Given the description of an element on the screen output the (x, y) to click on. 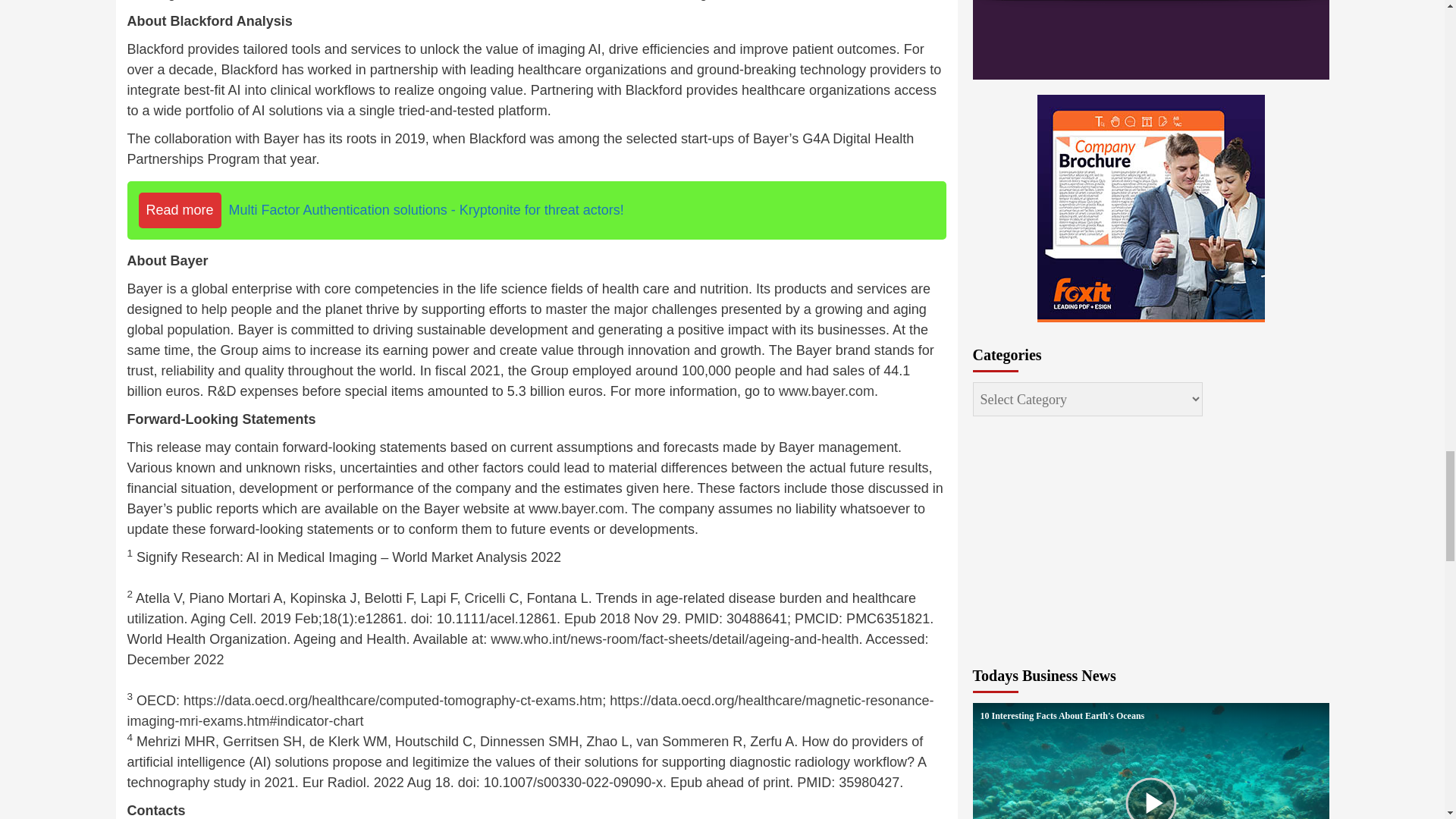
www.bayer.com (826, 391)
www.bayer.com (576, 508)
